Given the description of an element on the screen output the (x, y) to click on. 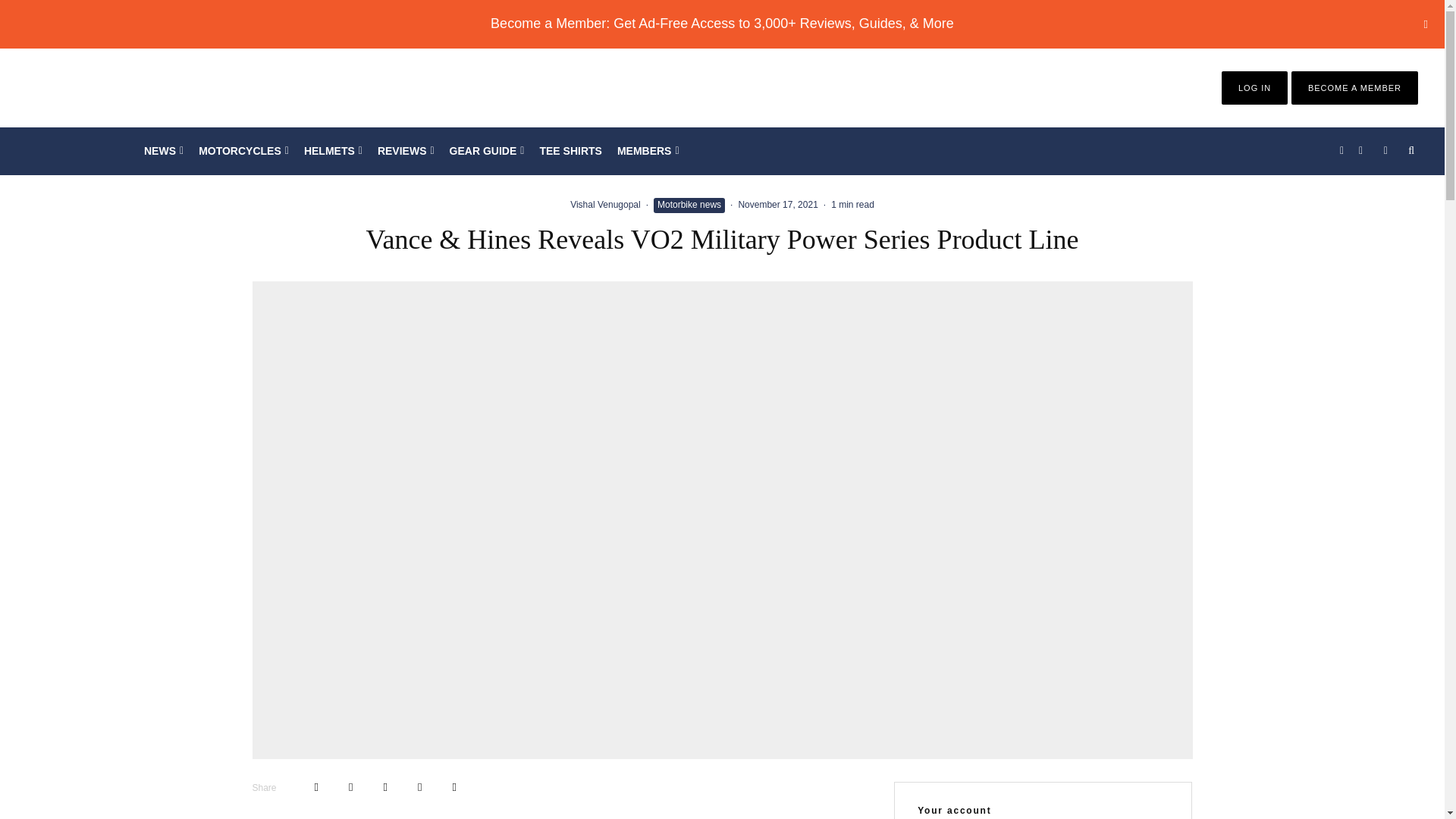
BECOME A MEMBER (1353, 87)
MOTORCYCLES (243, 150)
NEWS (163, 150)
LOG IN (1255, 87)
